Given the description of an element on the screen output the (x, y) to click on. 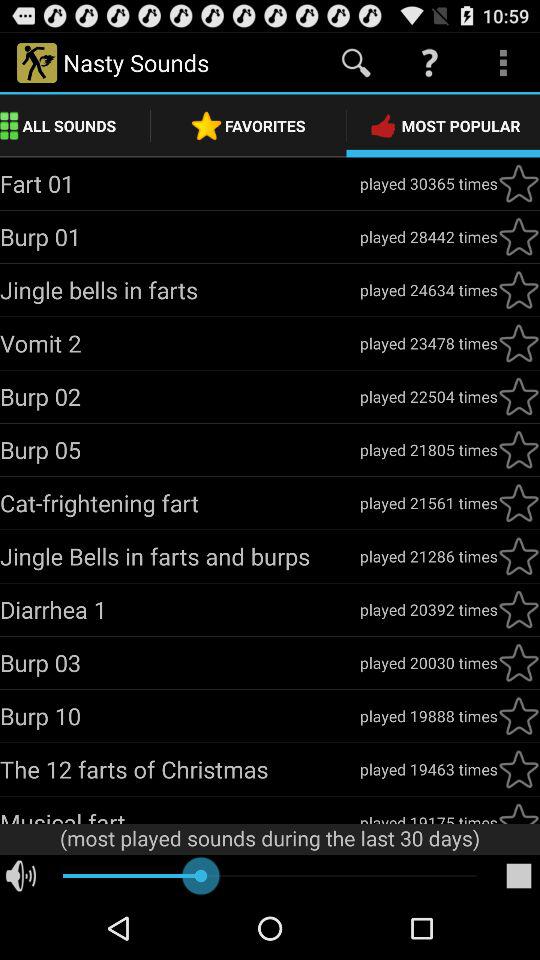
tap played 28442 times (428, 236)
